Given the description of an element on the screen output the (x, y) to click on. 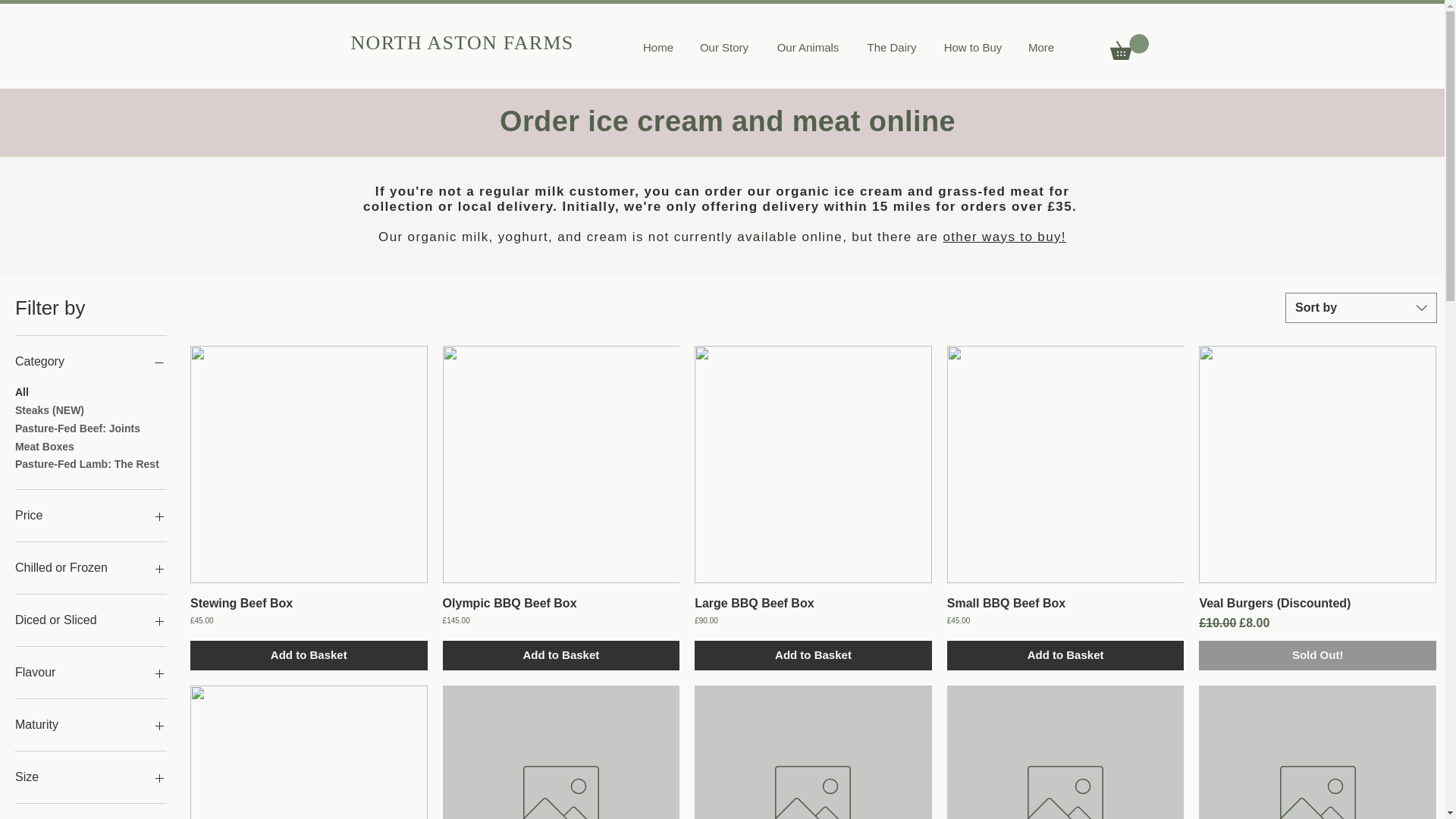
Maturity (90, 724)
Category (90, 361)
NORTH ASTON FARMS (461, 42)
Flavour (90, 672)
Add to Basket (560, 655)
Add to Basket (812, 655)
Add to Basket (1066, 655)
Our Animals (807, 47)
Sort by (1361, 307)
Chilled or Frozen (90, 567)
The Dairy (891, 47)
Size (90, 776)
Sold Out! (1316, 655)
